Given the description of an element on the screen output the (x, y) to click on. 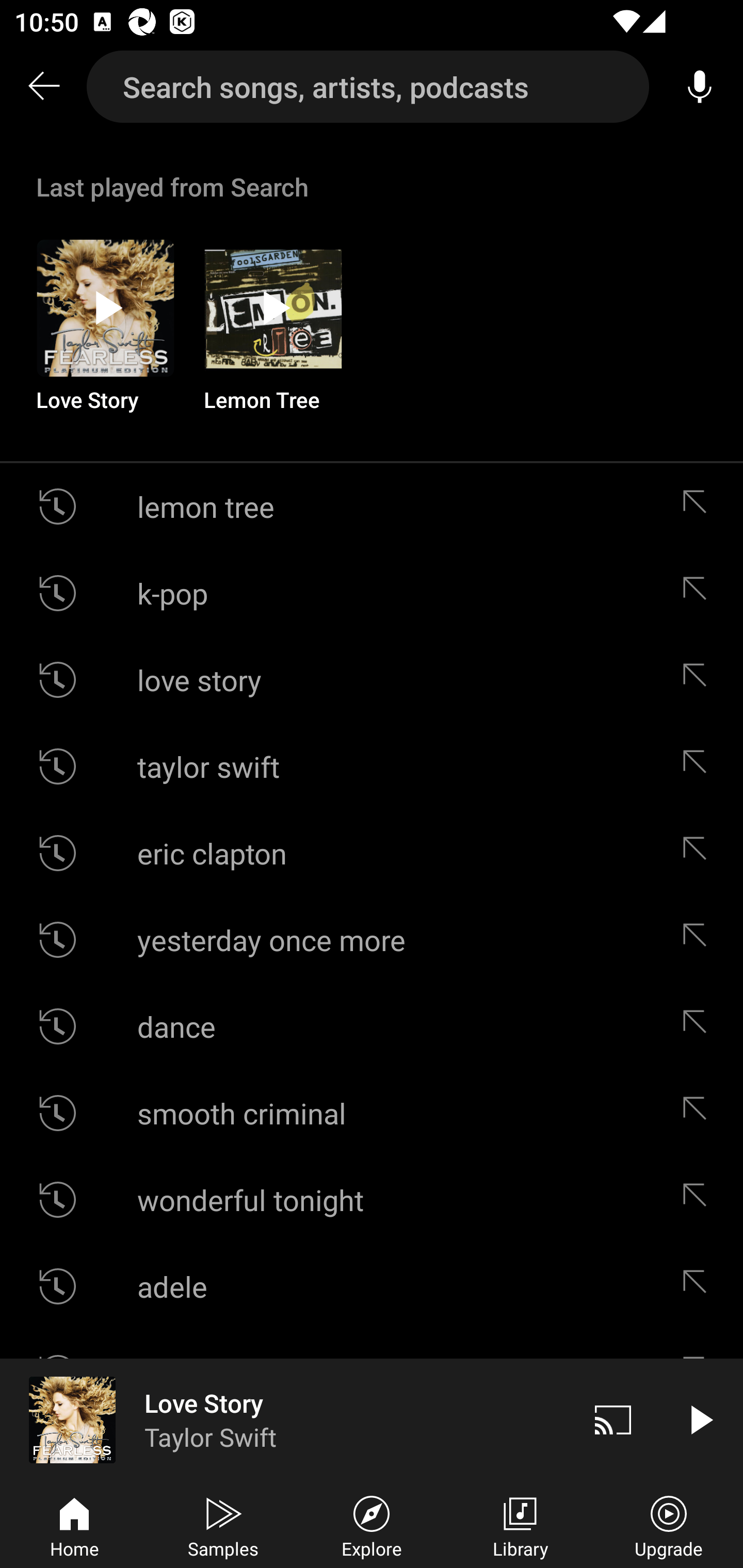
Search back (43, 86)
Search songs, artists, podcasts (367, 86)
Voice search (699, 86)
lemon tree Edit suggestion lemon tree (371, 506)
Edit suggestion lemon tree (699, 506)
k-pop Edit suggestion k-pop (371, 593)
Edit suggestion k-pop (699, 593)
love story Edit suggestion love story (371, 679)
Edit suggestion love story (699, 679)
taylor swift Edit suggestion taylor swift (371, 765)
Edit suggestion taylor swift (699, 765)
eric clapton Edit suggestion eric clapton (371, 852)
Edit suggestion eric clapton (699, 852)
Edit suggestion yesterday once more (699, 939)
dance Edit suggestion dance (371, 1026)
Edit suggestion dance (699, 1026)
smooth criminal Edit suggestion smooth criminal (371, 1113)
Edit suggestion smooth criminal (699, 1113)
Edit suggestion wonderful tonight (699, 1200)
adele Edit suggestion adele (371, 1286)
Edit suggestion adele (699, 1286)
Love Story Taylor Swift (284, 1419)
Cast. Disconnected (612, 1419)
Play video (699, 1419)
Home (74, 1524)
Samples (222, 1524)
Explore (371, 1524)
Library (519, 1524)
Upgrade (668, 1524)
